Given the description of an element on the screen output the (x, y) to click on. 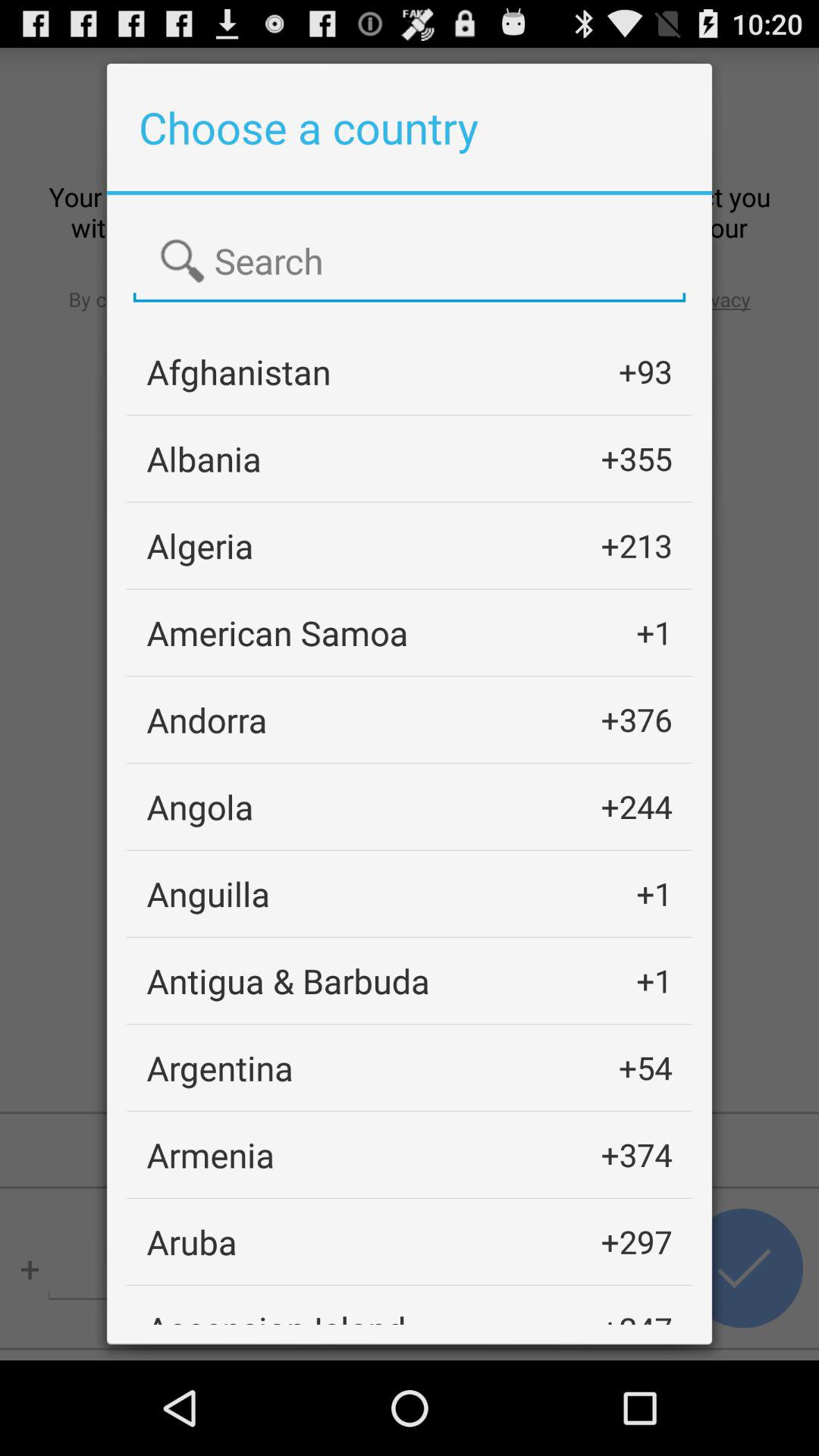
press the angola item (199, 806)
